Given the description of an element on the screen output the (x, y) to click on. 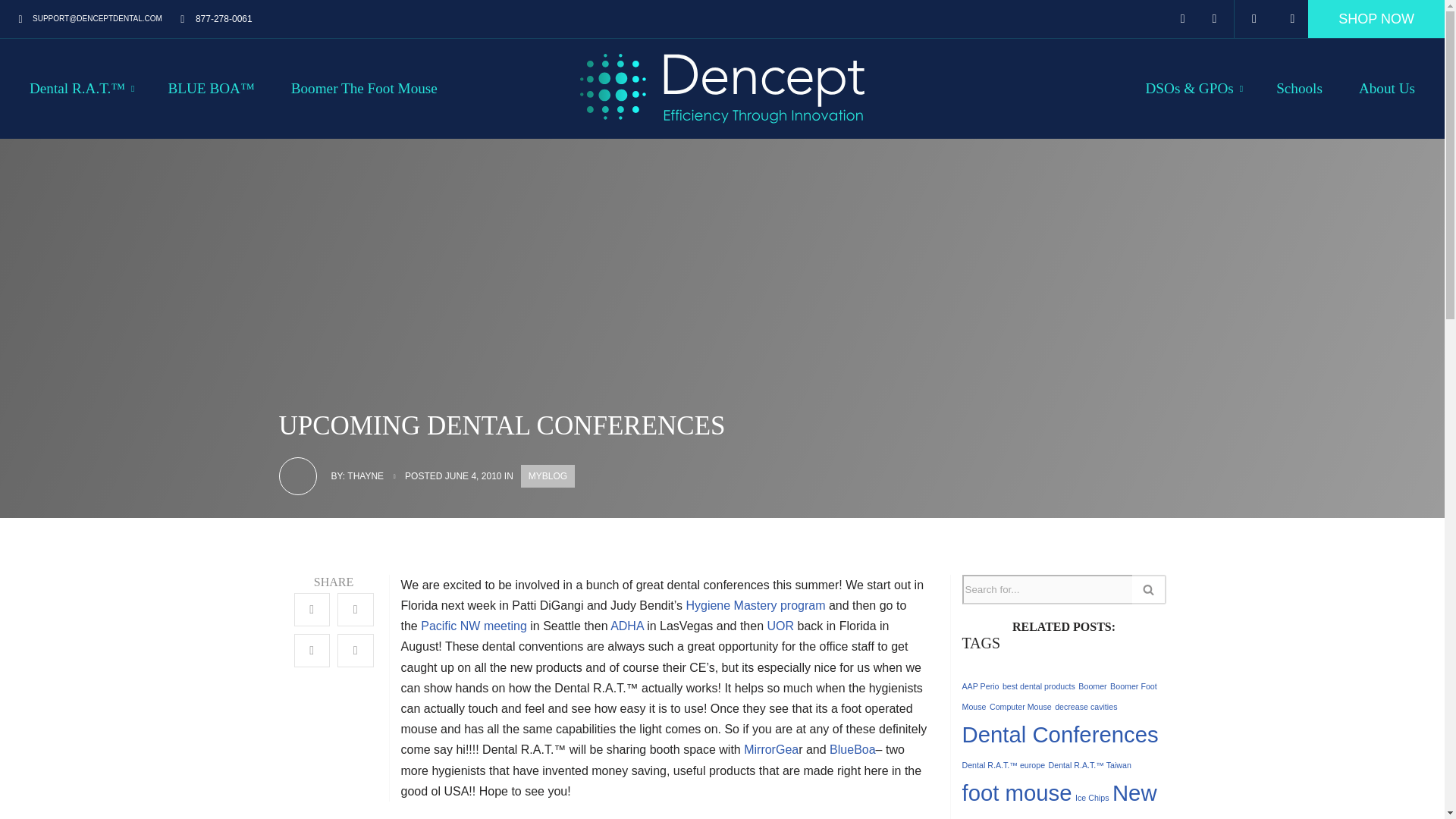
Share on linkedin-in (312, 650)
About Us (1386, 88)
Share on twitter (355, 609)
Schools (1298, 88)
877-278-0061 (214, 18)
Hygiene Mastery program (755, 604)
Boomer The Foot Mouse (364, 88)
Share on pinterest-p (355, 650)
Share on facebook-f (312, 609)
